Given the description of an element on the screen output the (x, y) to click on. 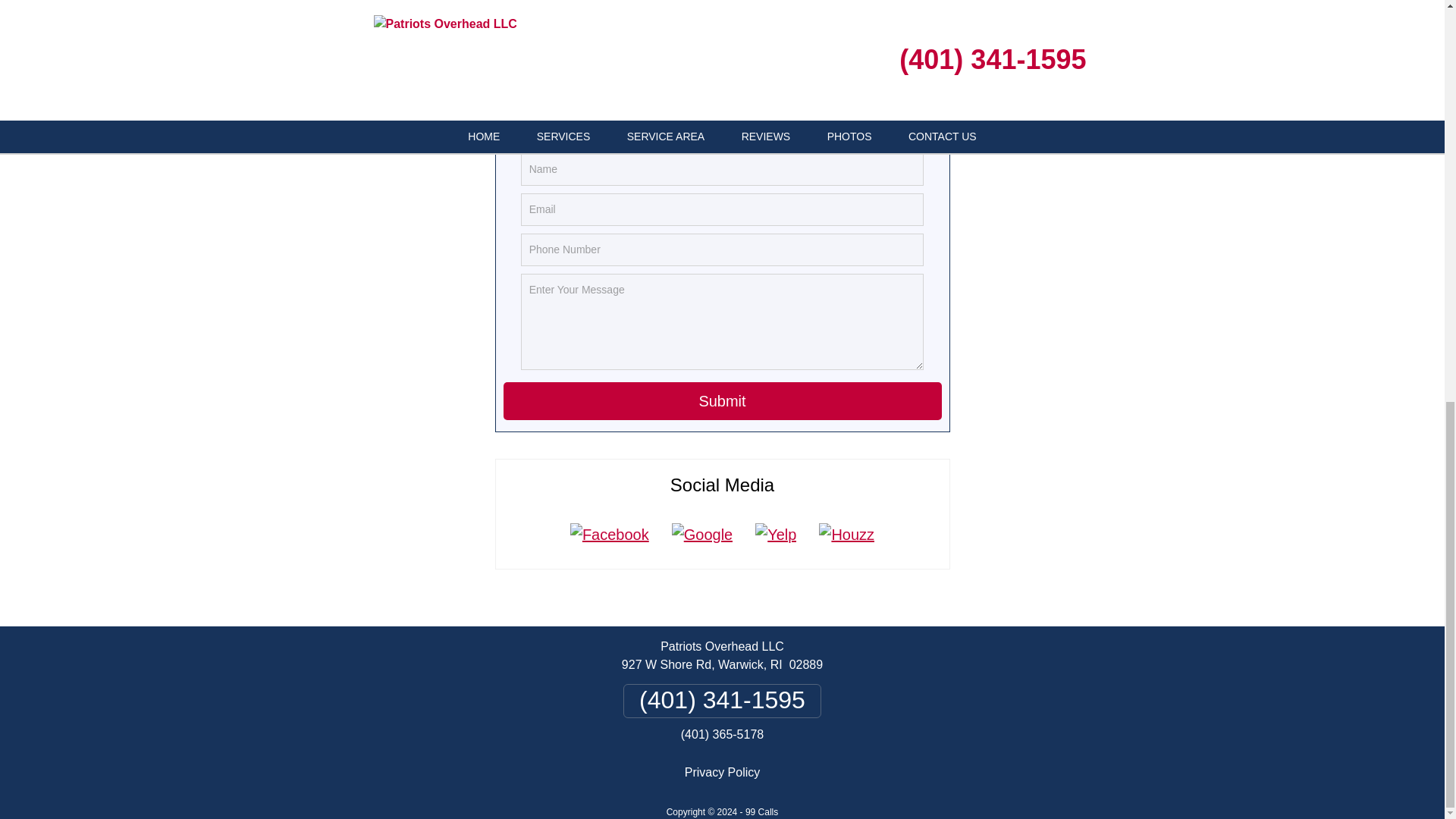
Houzz (846, 534)
Google (702, 534)
Facebook (610, 534)
Submit (722, 401)
Privacy Policy (722, 771)
Yelp (776, 534)
Coventry Commercial Garage Doors (505, 13)
